Given the description of an element on the screen output the (x, y) to click on. 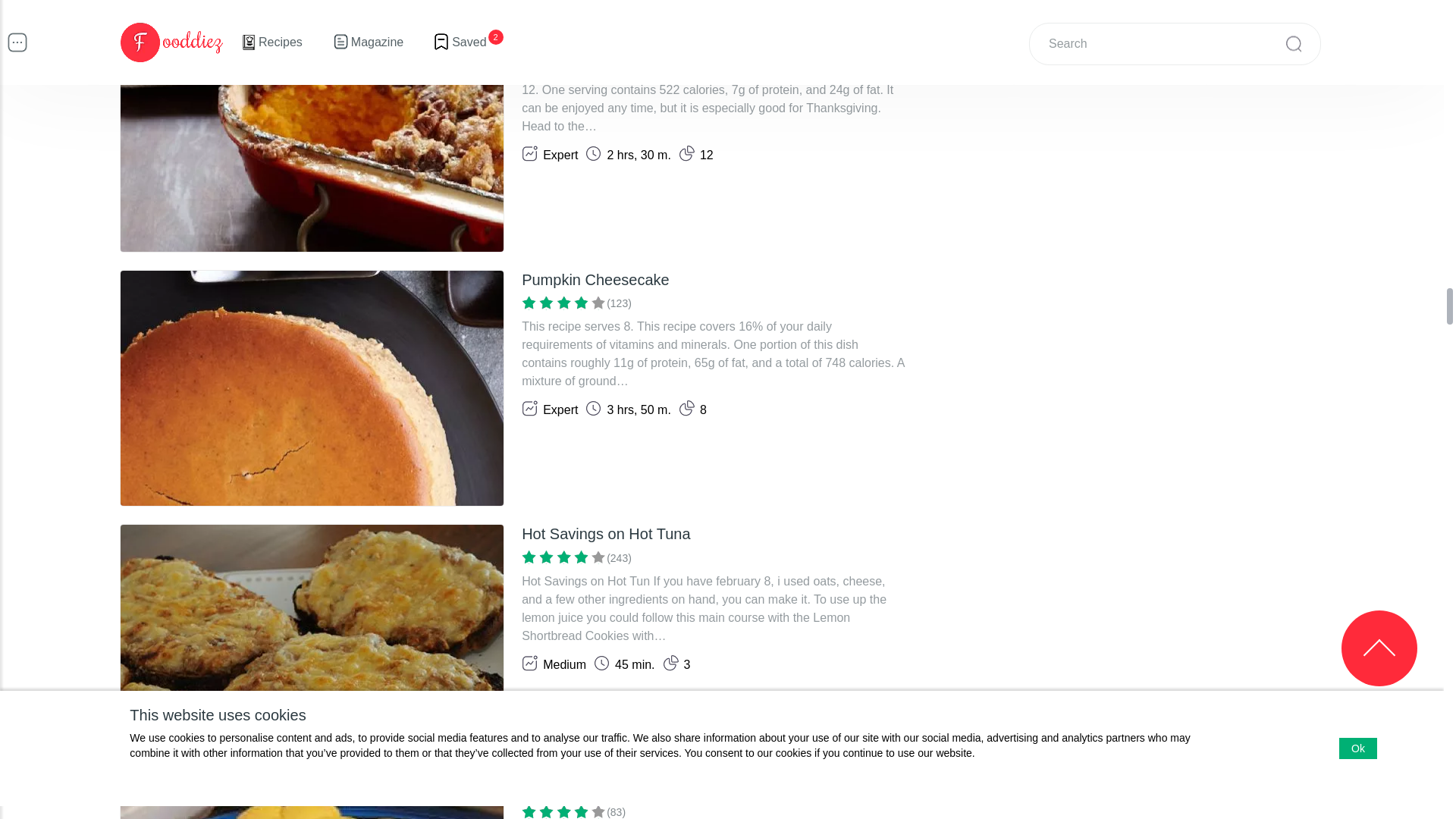
Difficulty (549, 152)
